Given the description of an element on the screen output the (x, y) to click on. 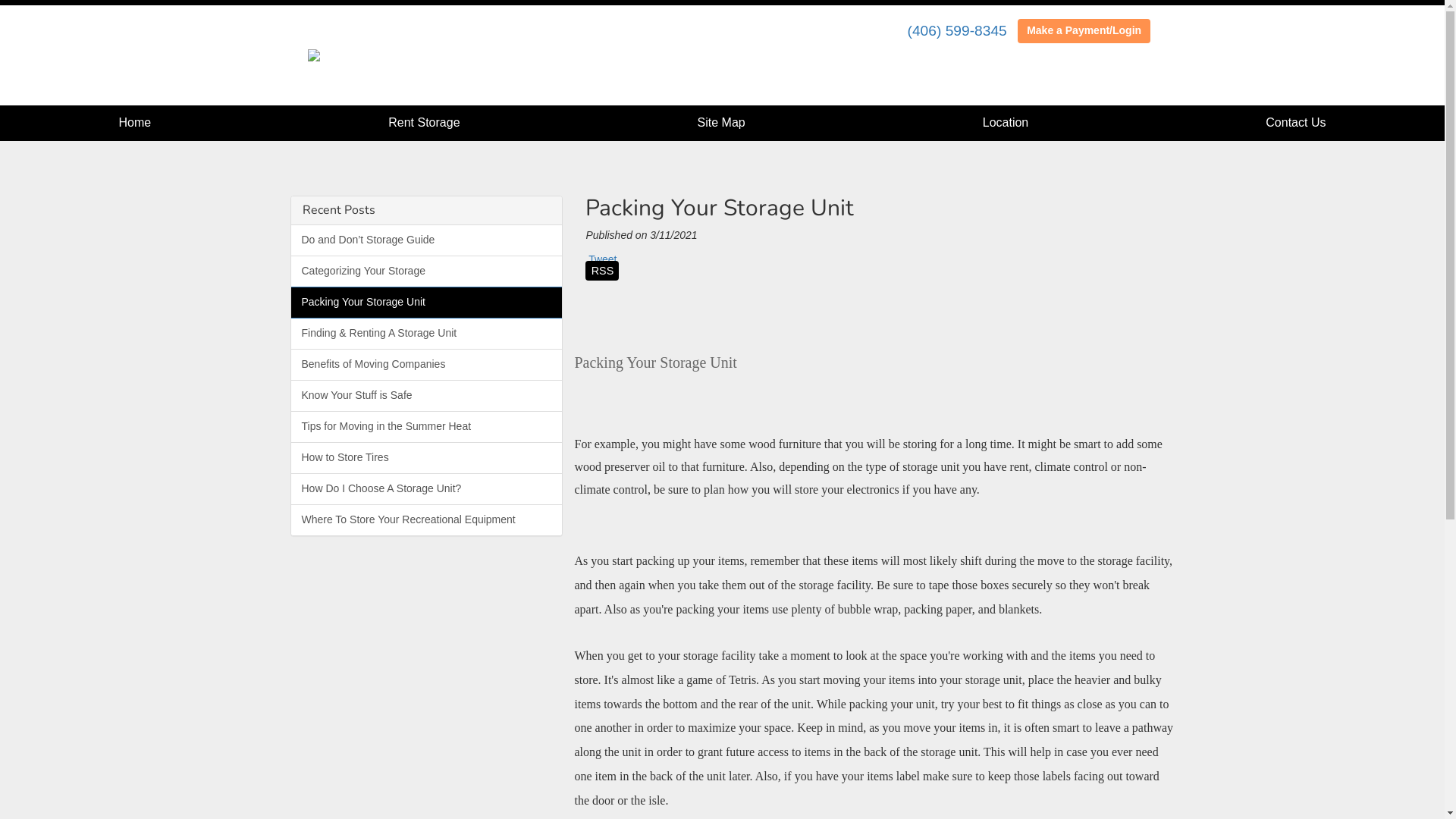
Categorizing Your Storage Element type: text (426, 271)
How to Store Tires Element type: text (426, 457)
Benefits of Moving Companies Element type: text (426, 364)
(406) 599-8345 Element type: text (957, 30)
Tips for Moving in the Summer Heat Element type: text (426, 426)
Site Map Element type: text (721, 123)
Packing Your Storage Unit Element type: text (426, 302)
Tweet Element type: text (602, 259)
Contact Us Element type: text (1295, 123)
Home Element type: text (135, 123)
How Do I Choose A Storage Unit? Element type: text (426, 489)
Know Your Stuff is Safe Element type: text (426, 395)
Location Element type: text (1005, 123)
Finding & Renting A Storage Unit Element type: text (426, 333)
RSS Element type: text (601, 275)
Make a Payment/Login Element type: text (1083, 30)
Where To Store Your Recreational Equipment Element type: text (426, 519)
Rent Storage Element type: text (423, 123)
